Given the description of an element on the screen output the (x, y) to click on. 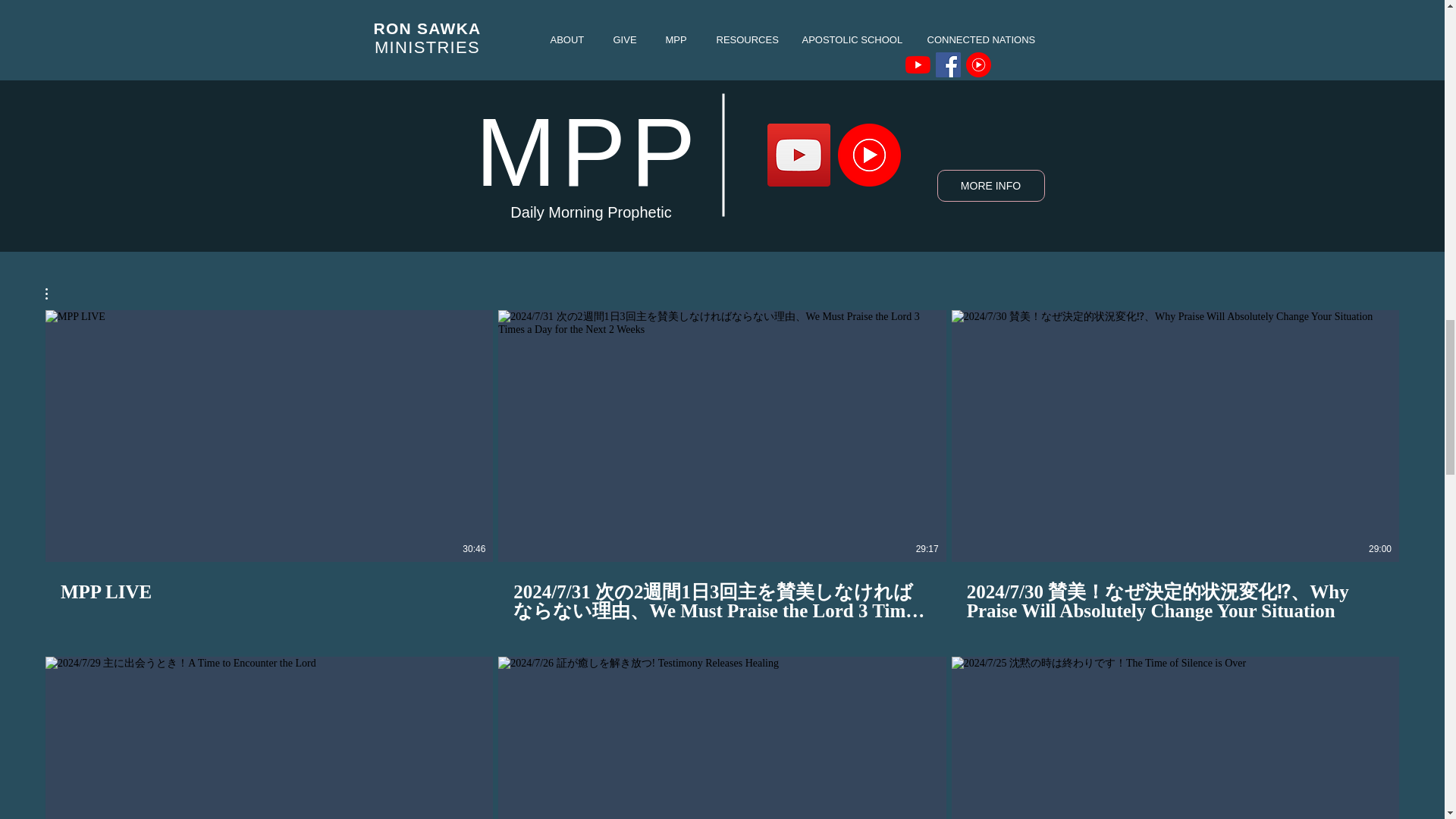
MPP LIVE (269, 590)
MPP LIVE (269, 581)
MORE INFO (991, 185)
